Given the description of an element on the screen output the (x, y) to click on. 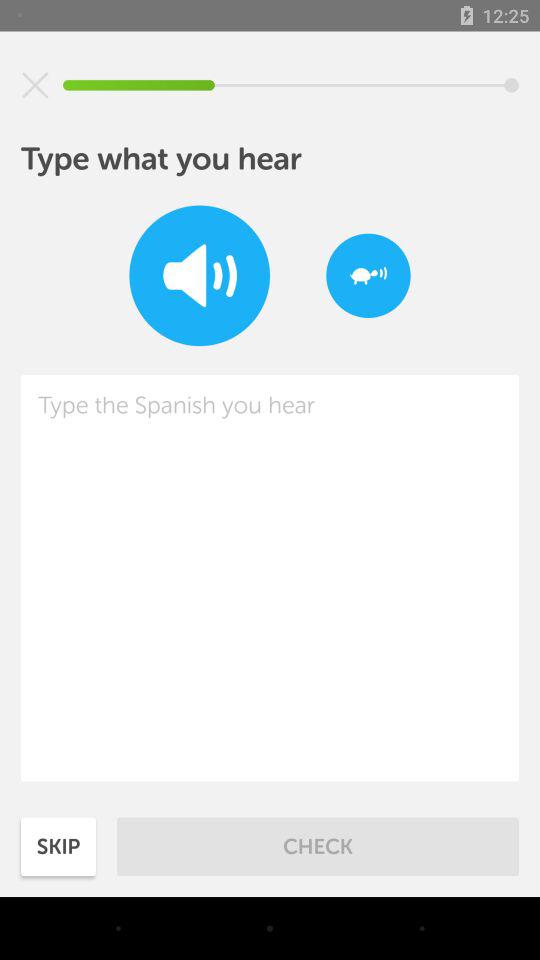
exit (35, 85)
